Given the description of an element on the screen output the (x, y) to click on. 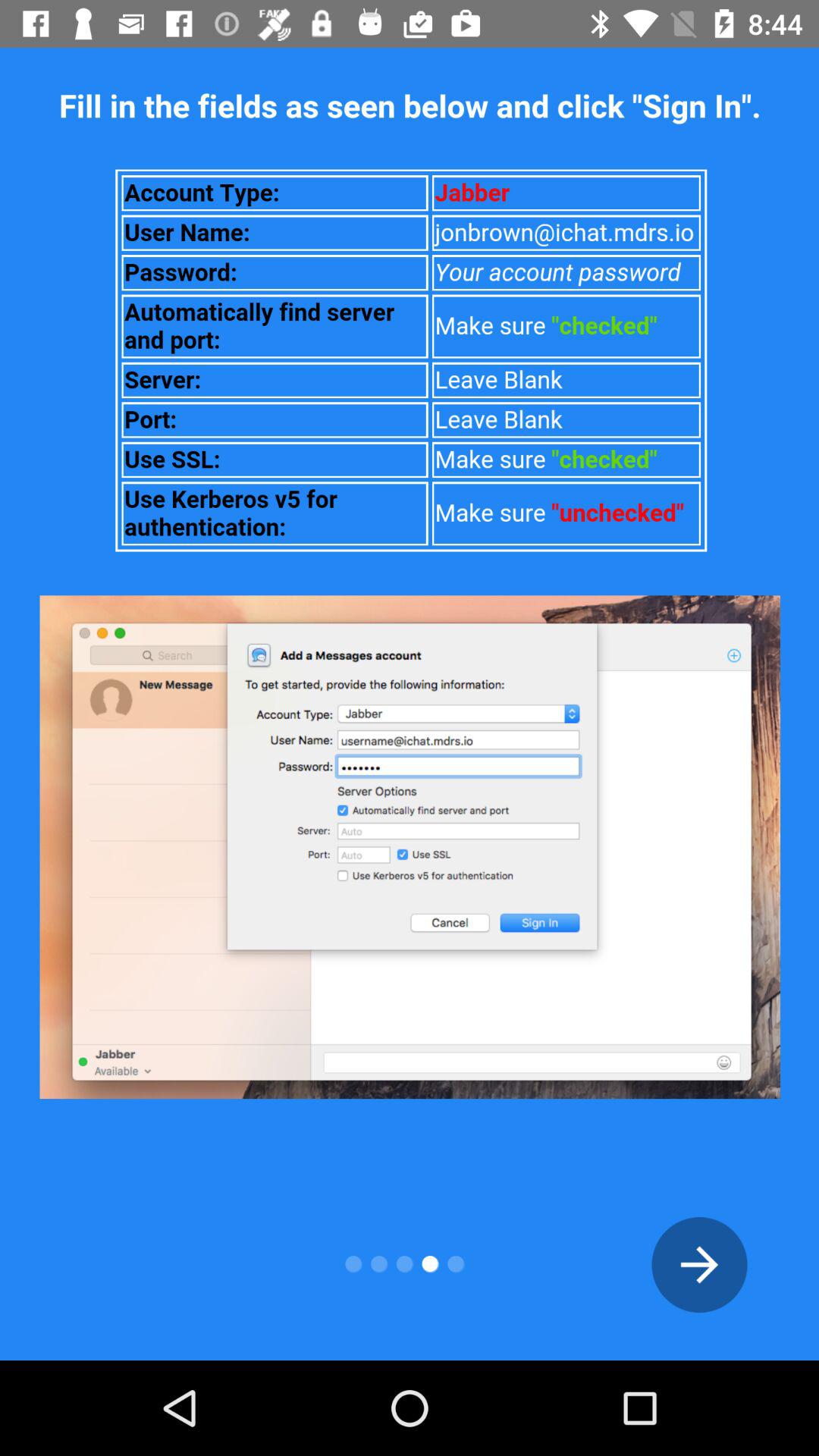
next sheet (699, 1264)
